Given the description of an element on the screen output the (x, y) to click on. 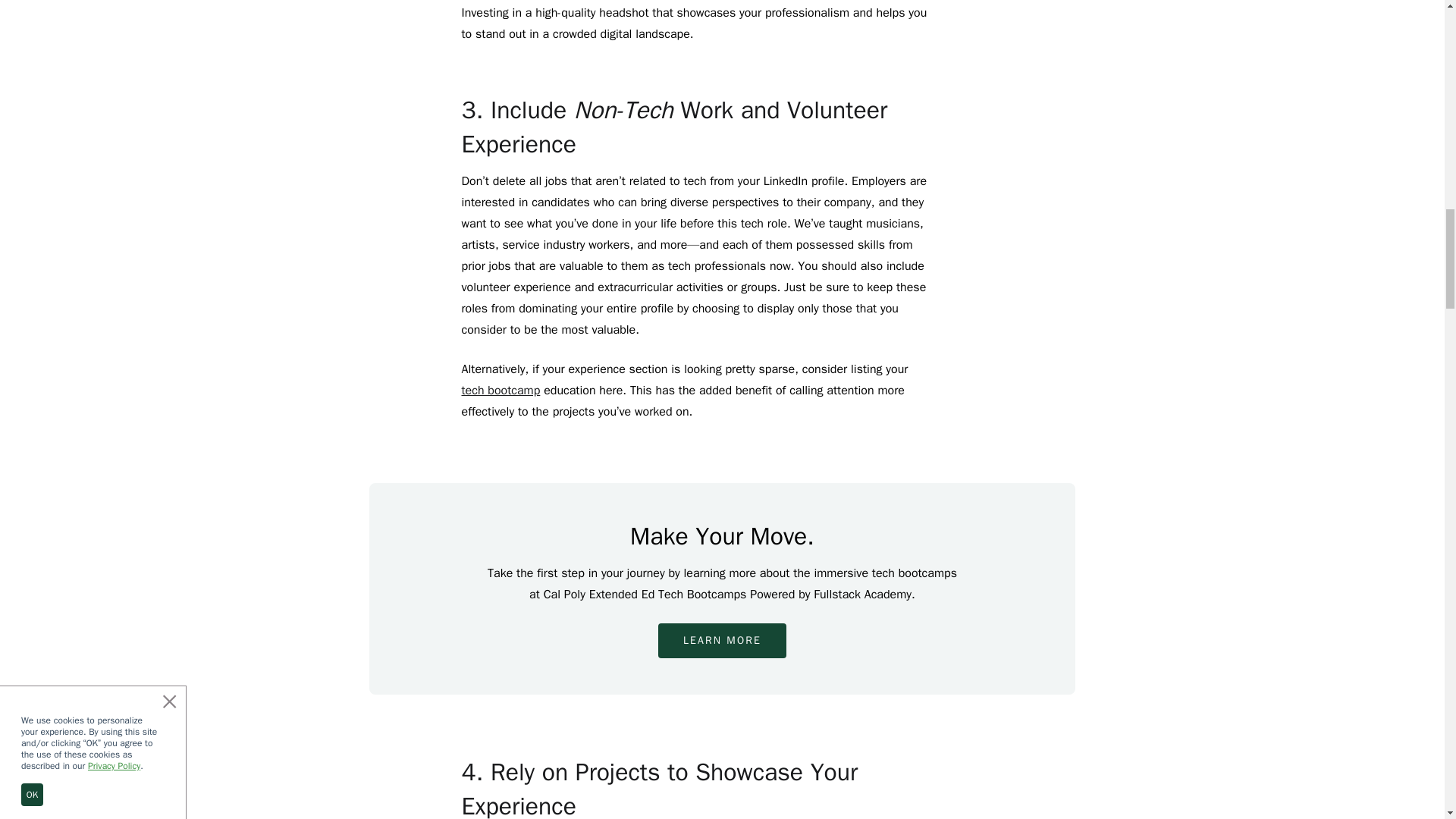
tech bootcamp (500, 390)
LEARN MORE (722, 640)
